Given the description of an element on the screen output the (x, y) to click on. 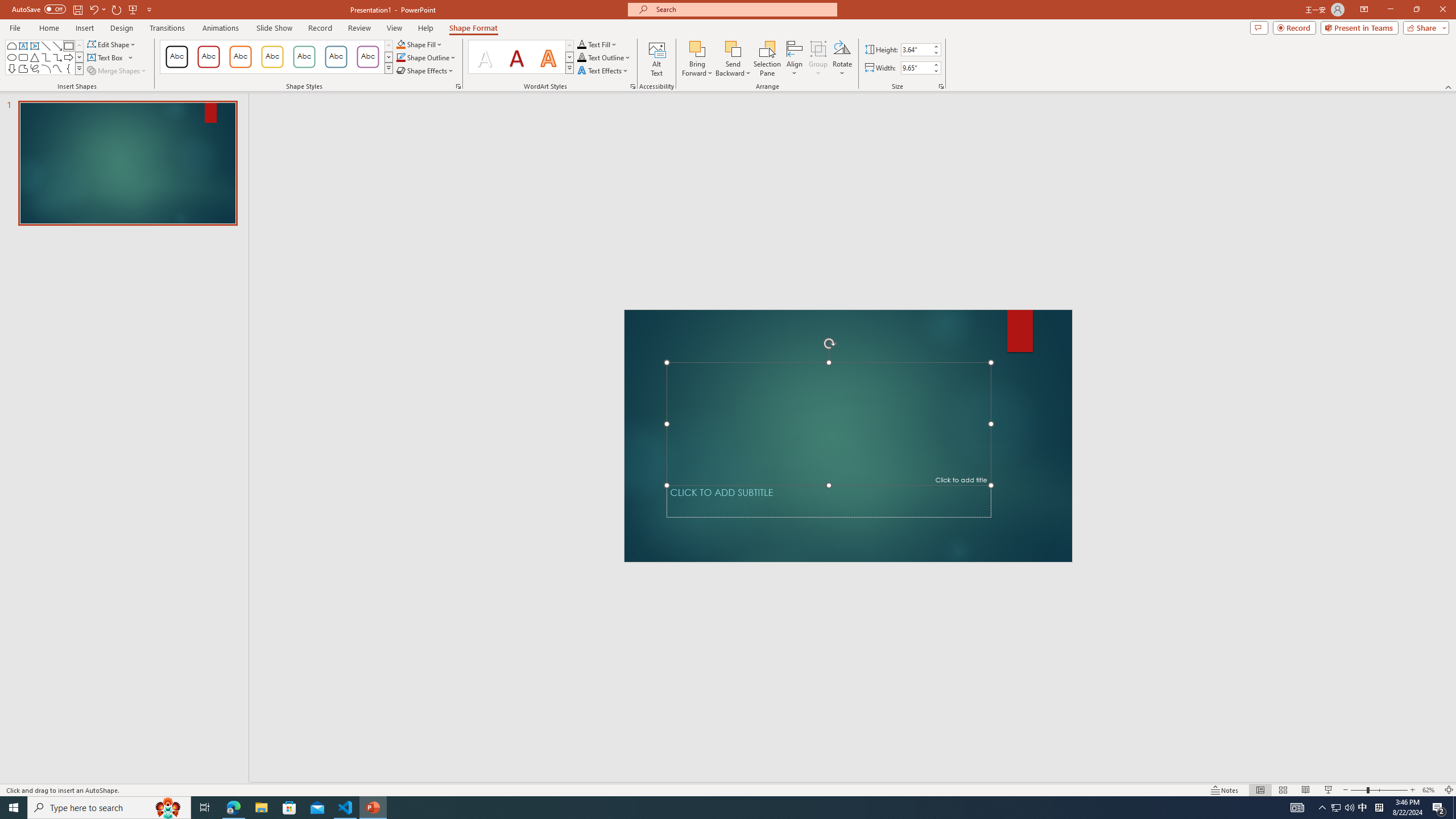
Text Fill RGB(0, 0, 0) (581, 44)
Zoom 62% (1430, 790)
Shape Width (915, 67)
Bring Forward (697, 58)
